Given the description of an element on the screen output the (x, y) to click on. 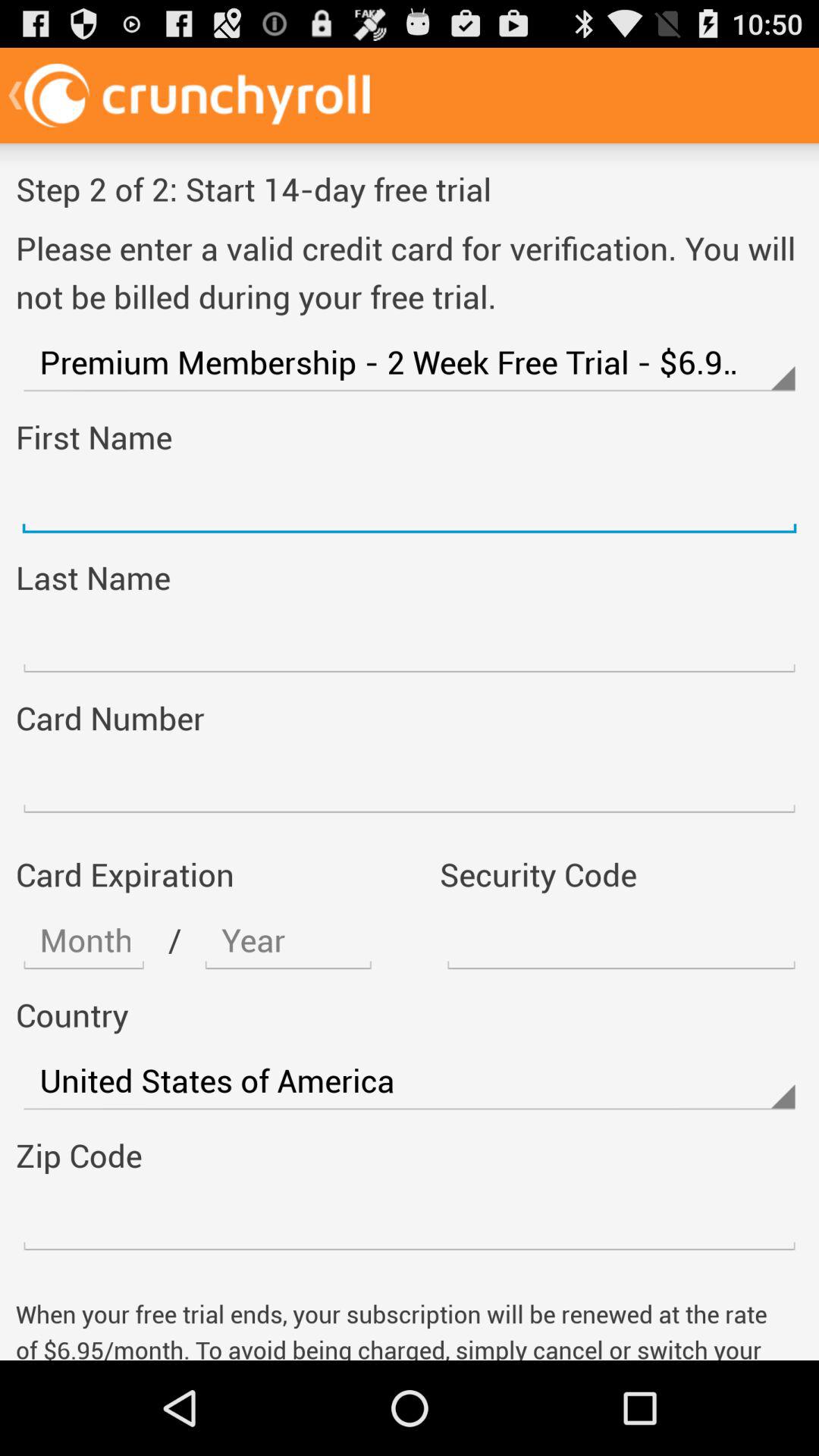
date in the page (288, 940)
